Given the description of an element on the screen output the (x, y) to click on. 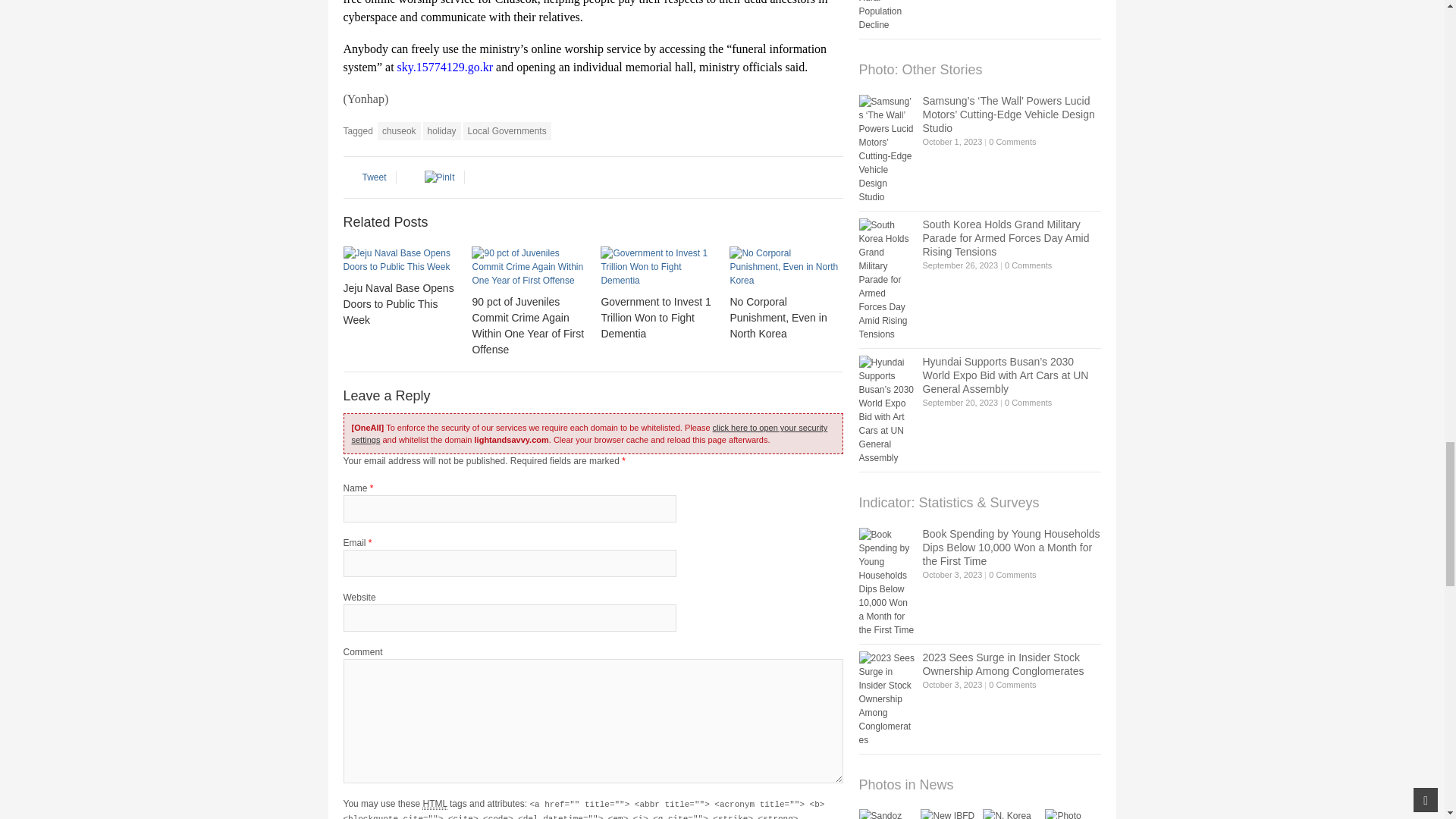
Government to Invest 1 Trillion Won to Fight Dementia (656, 266)
Jeju Naval Base Opens Doors to Public This Week (399, 259)
Jeju Naval Base Opens Doors to Public This Week (397, 303)
